Given the description of an element on the screen output the (x, y) to click on. 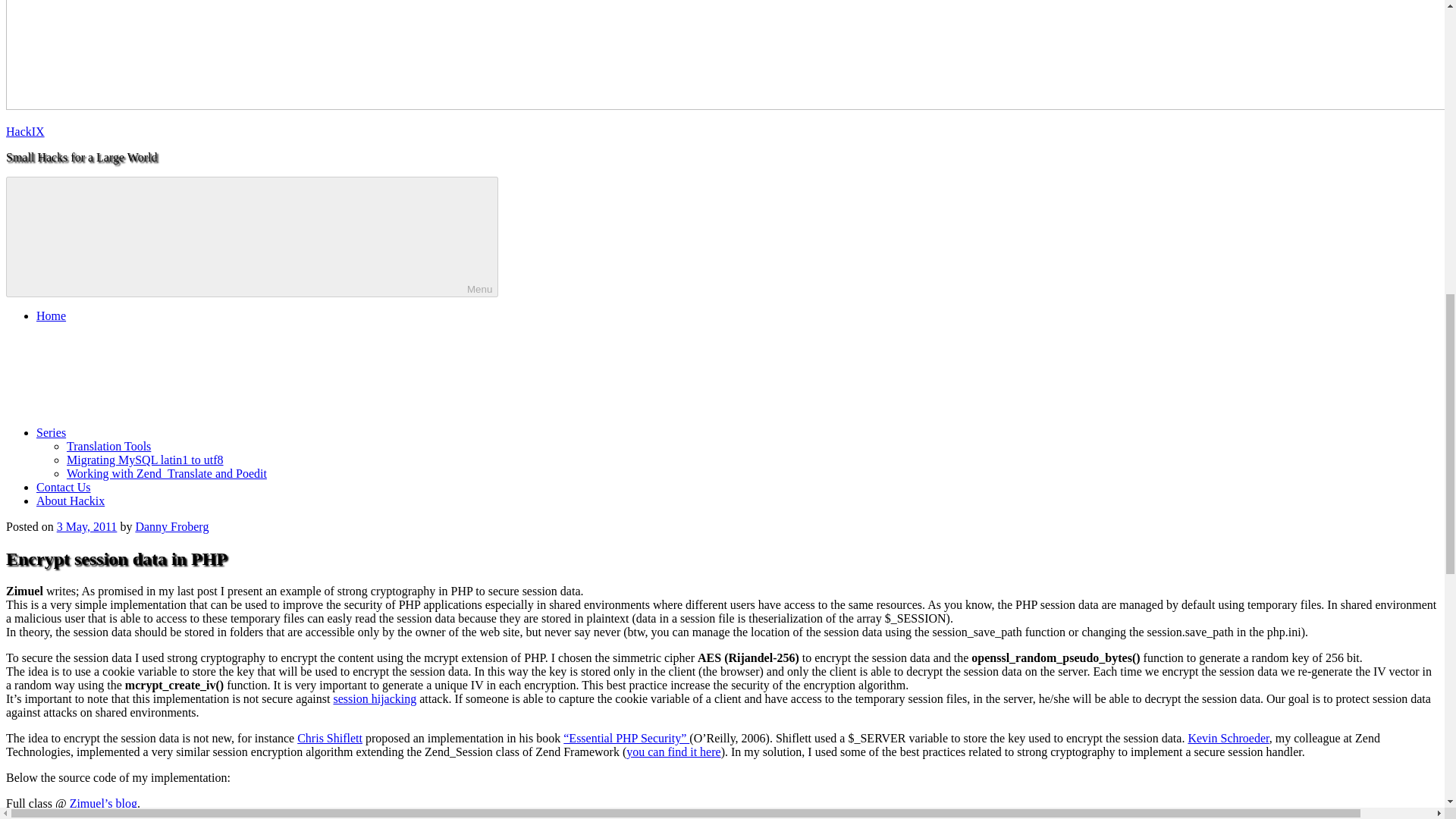
Home (50, 315)
HackIX (25, 131)
Menu (251, 236)
3 May, 2011 (86, 526)
session hijacking (374, 698)
Danny Froberg (171, 526)
Series (165, 431)
Chris Shiflett (329, 738)
Translation Tools (108, 445)
Migrating MySQL latin1 to utf8 (145, 459)
